Given the description of an element on the screen output the (x, y) to click on. 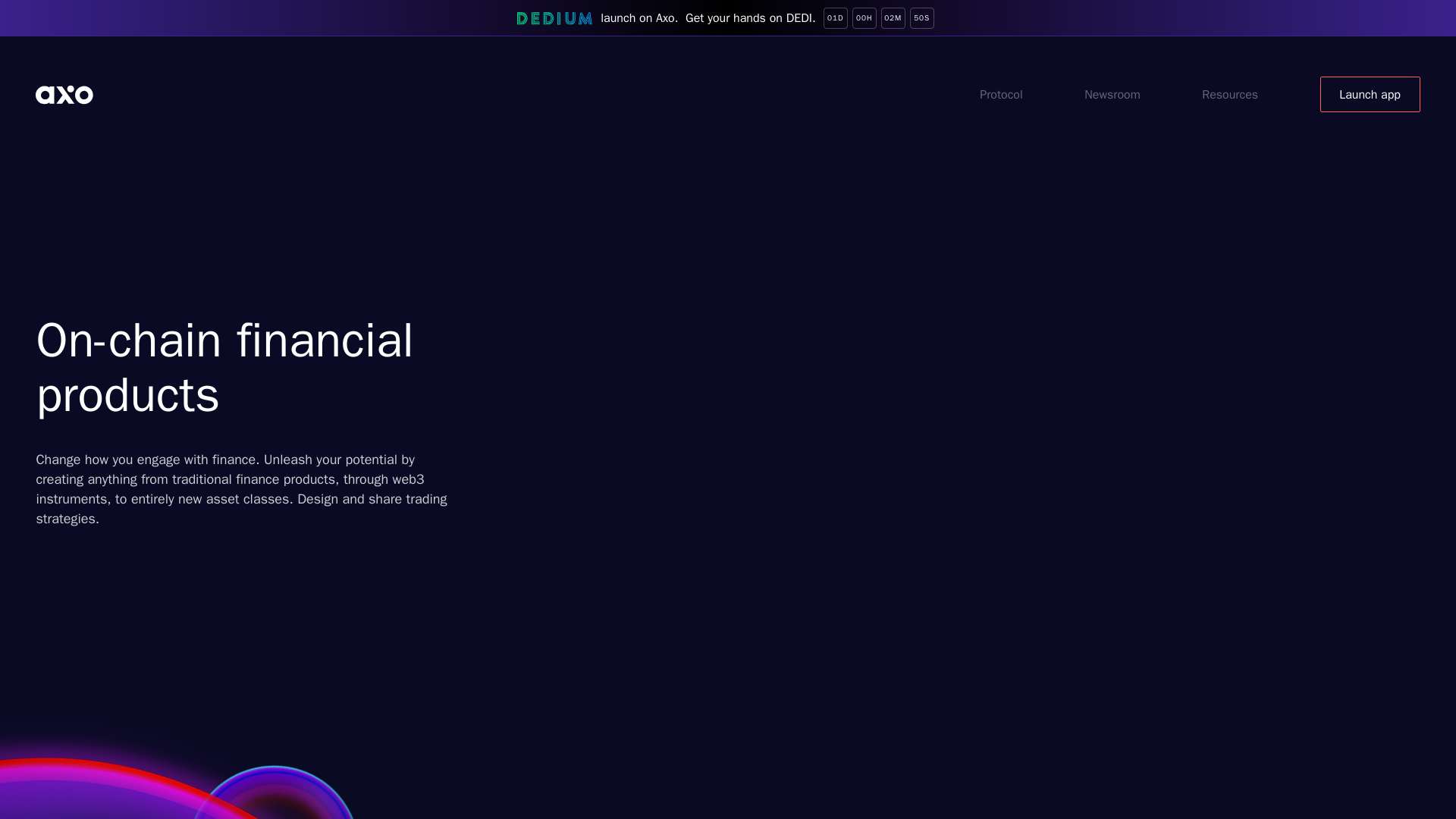
Protocol (1008, 94)
Launch app (1370, 93)
Newsroom (1119, 94)
Resources (1237, 94)
